Given the description of an element on the screen output the (x, y) to click on. 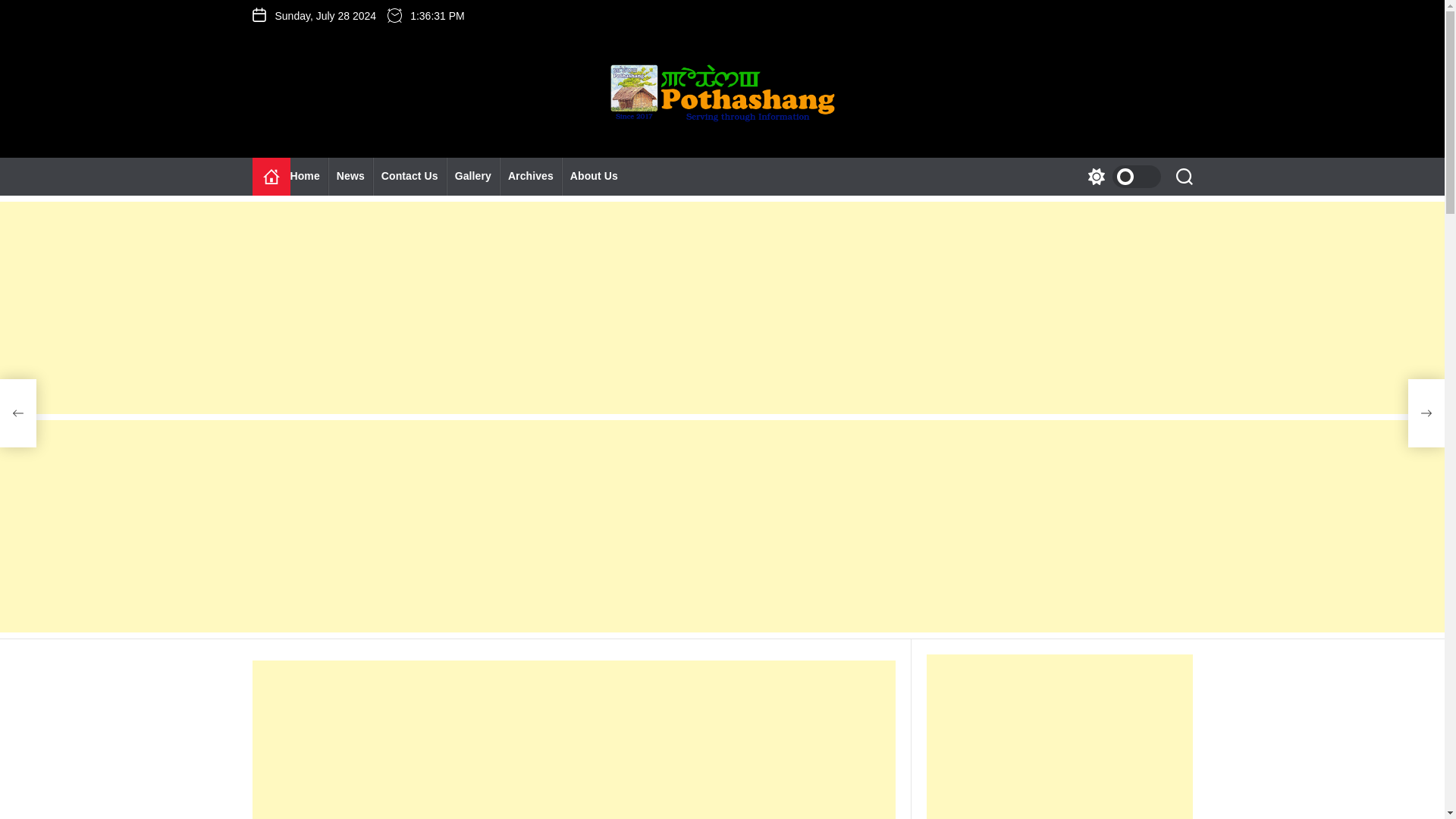
Gallery (472, 176)
Archives (530, 176)
Home (308, 176)
Advertisement (573, 739)
Switch color mode (1120, 176)
Contact Us (409, 176)
News (350, 176)
About Us (594, 176)
